Given the description of an element on the screen output the (x, y) to click on. 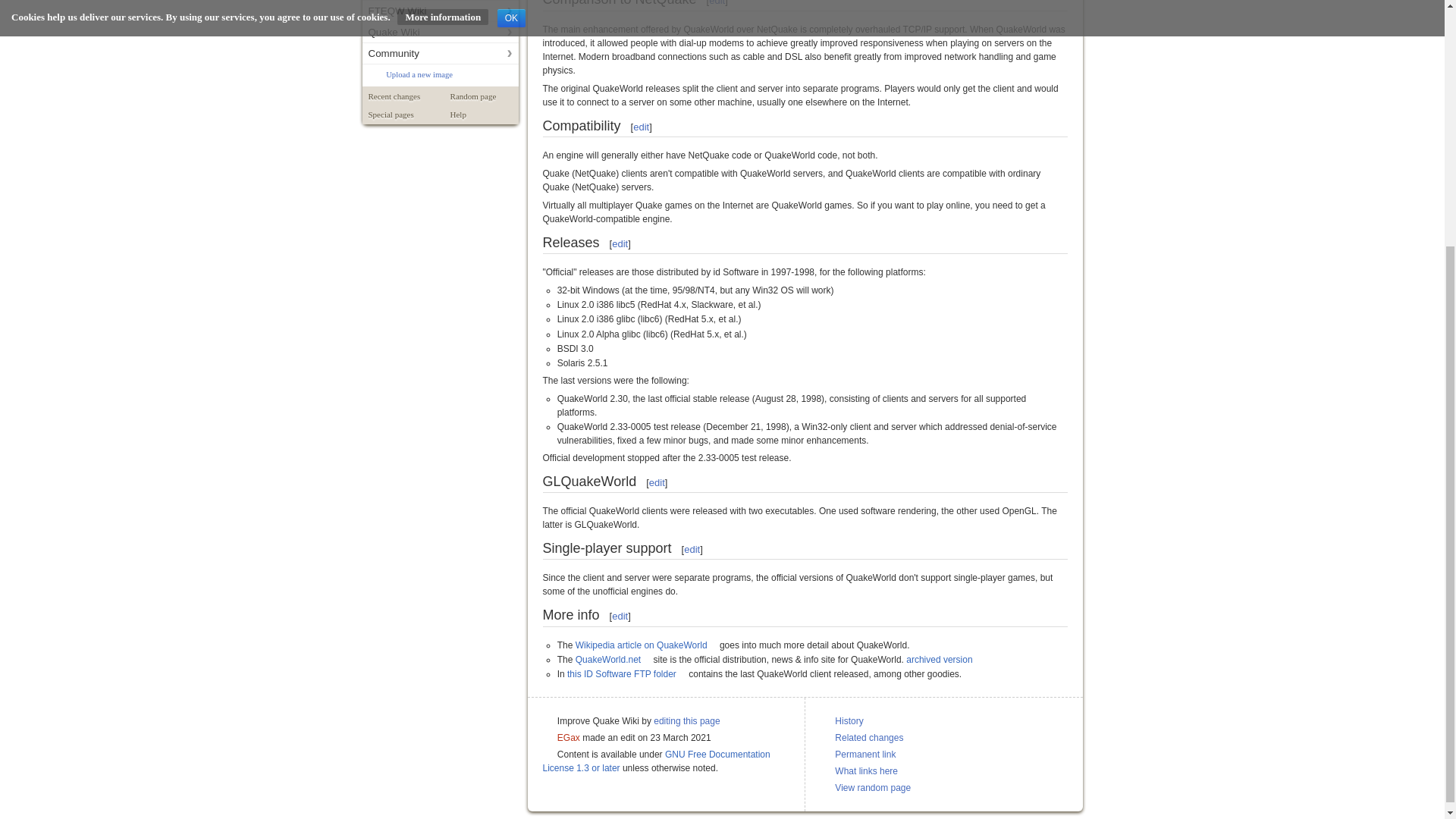
Wikipedia article on QuakeWorld (646, 644)
edit (717, 2)
this ID Software FTP folder (626, 674)
Edit section: GLQuakeWorld (657, 482)
edit (641, 126)
Edit section: Releases (619, 243)
edit (619, 243)
edit (692, 549)
QuakeWorld.net (612, 659)
Edit section: Comparison to NetQuake (717, 2)
editing this page (686, 720)
EGax (568, 737)
edit (619, 615)
Edit section: More info (619, 615)
Edit section: Compatibility (641, 126)
